Given the description of an element on the screen output the (x, y) to click on. 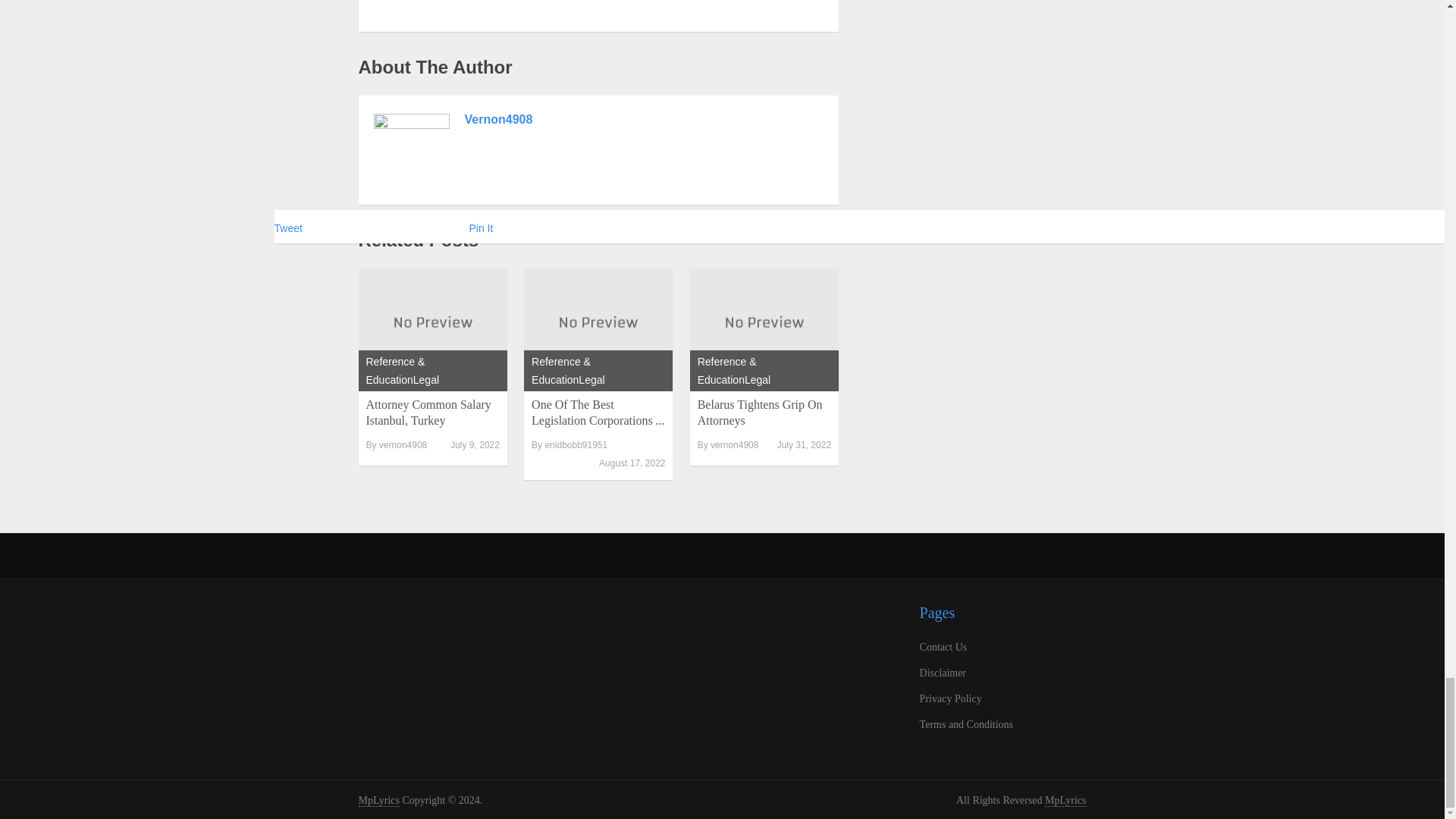
Posts by enidbobb91951 (575, 444)
Posts by vernon4908 (402, 444)
Belarus Tightens Grip On Attorneys (764, 324)
Attorney Common Salary Istanbul, Turkey (432, 324)
Belarus Tightens Grip On Attorneys (759, 412)
Attorney Common Salary Istanbul, Turkey (427, 412)
Vernon4908 (498, 119)
